Given the description of an element on the screen output the (x, y) to click on. 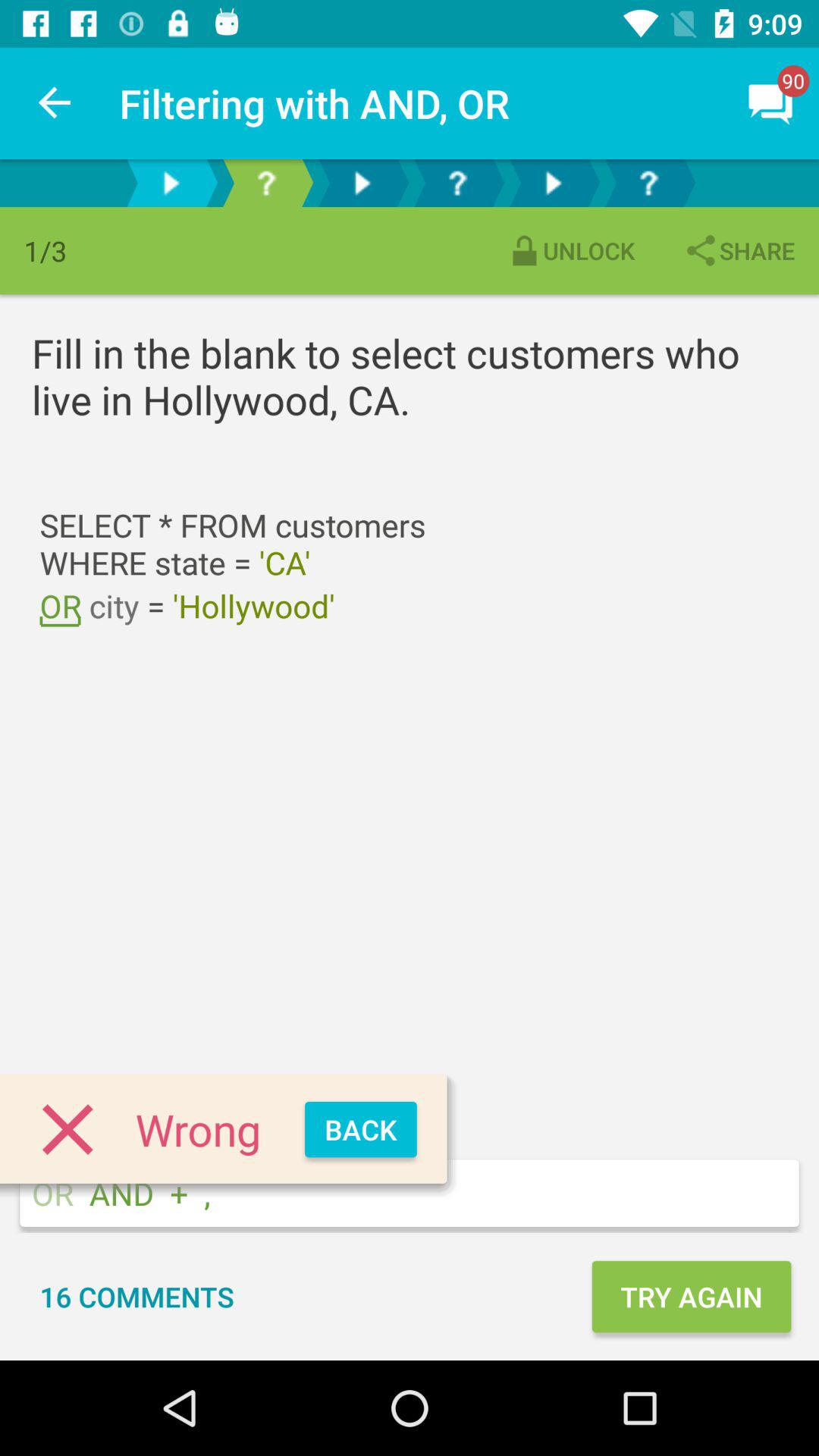
go to step of the quest (265, 183)
